Given the description of an element on the screen output the (x, y) to click on. 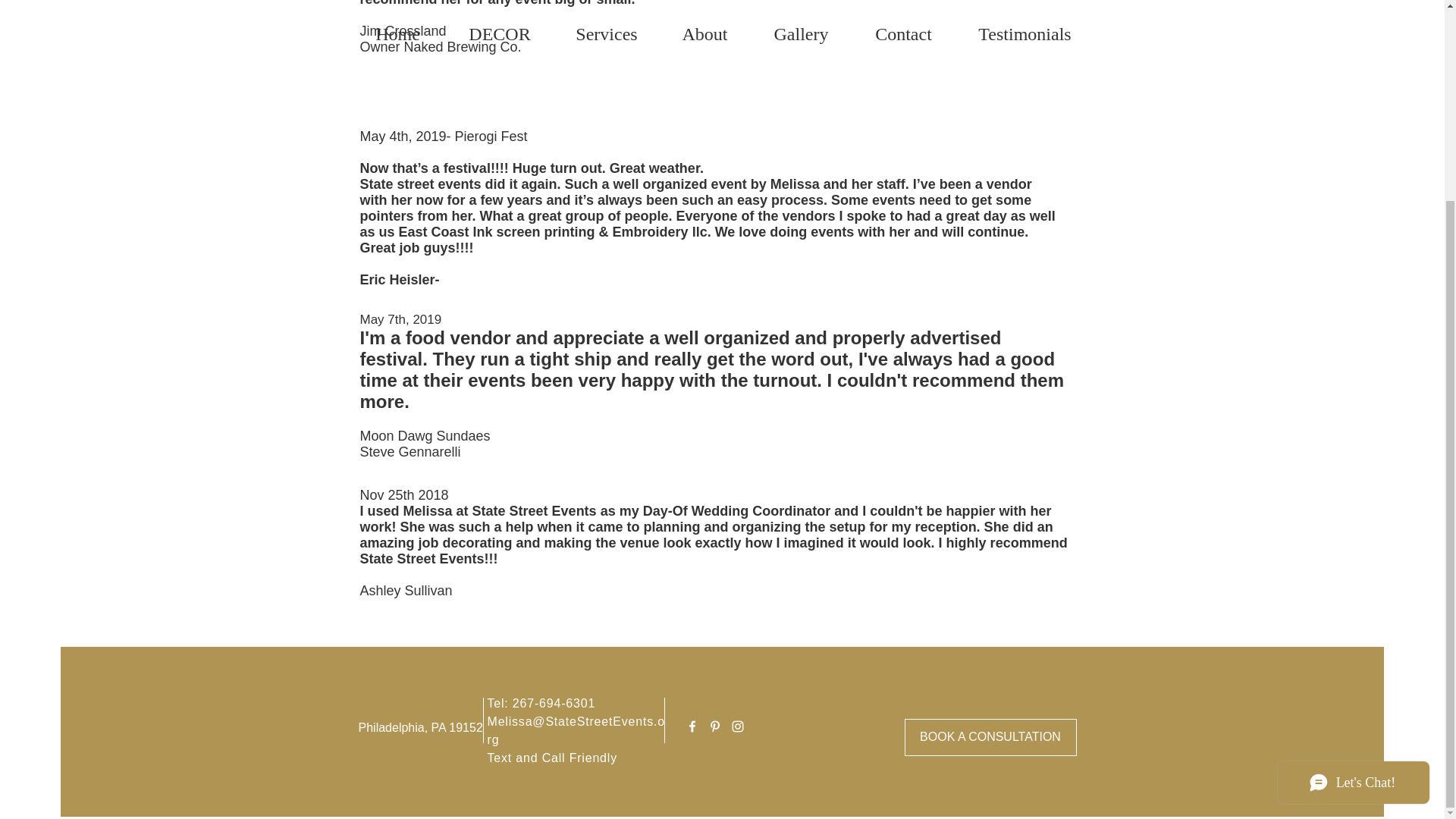
BOOK A CONSULTATION (989, 737)
